Given the description of an element on the screen output the (x, y) to click on. 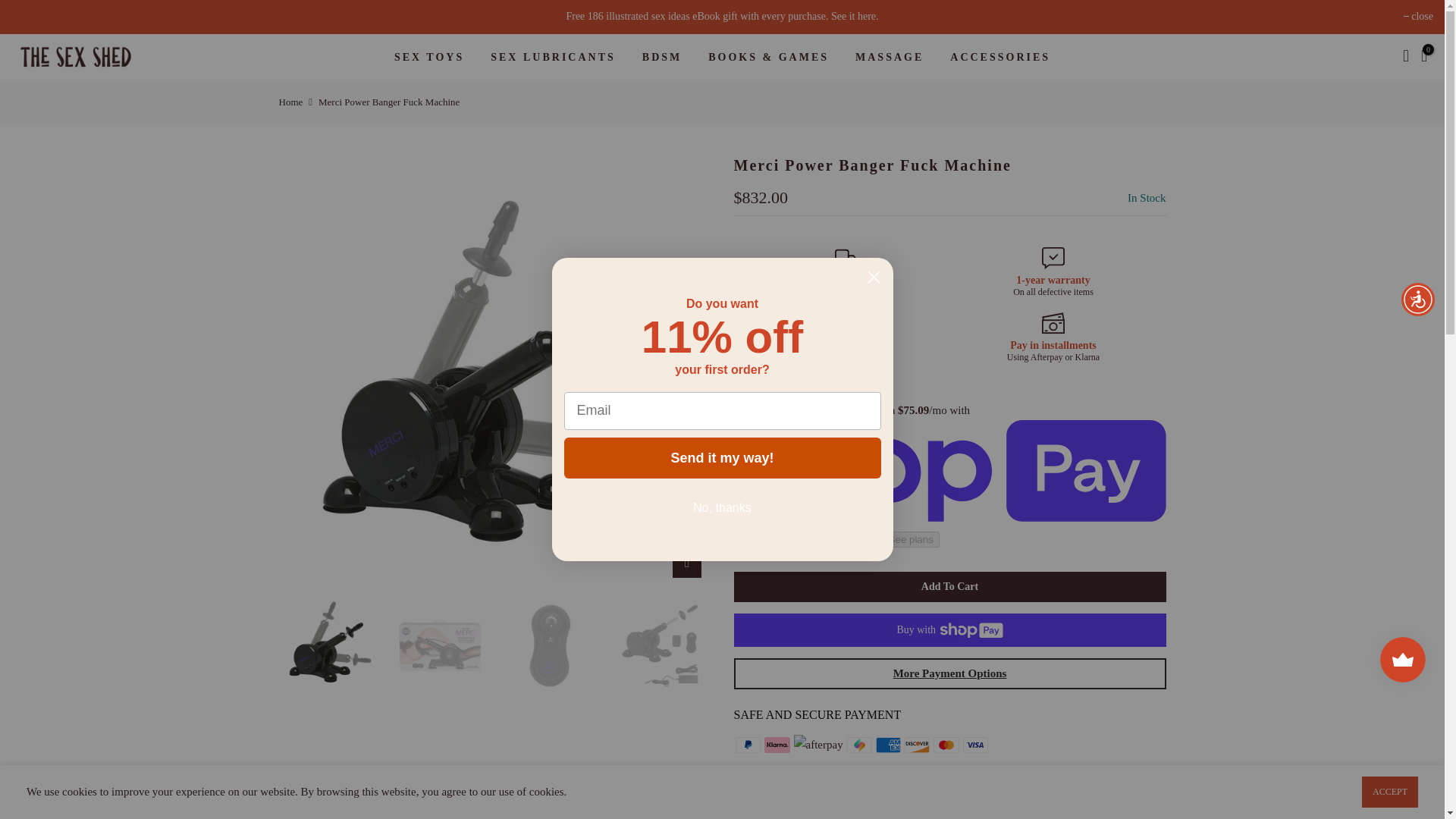
SEX TOYS (428, 57)
close (1417, 16)
Accessibility Menu (1417, 299)
Close dialog 1 (873, 276)
Smile.io Rewards Program Launcher (1402, 659)
